Given the description of an element on the screen output the (x, y) to click on. 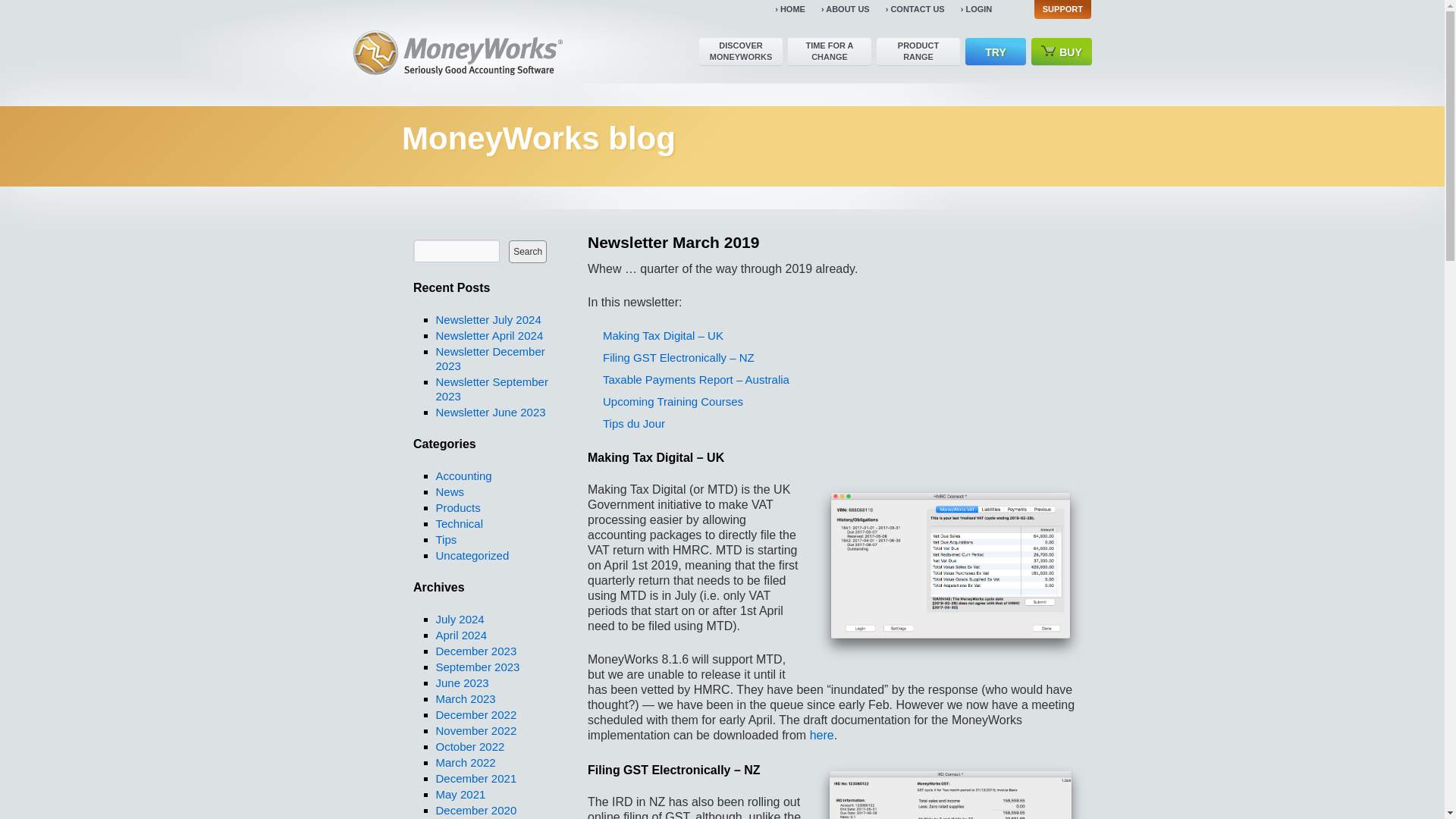
Newsletter September 2023 (491, 388)
November 2022 (475, 730)
Newsletter July 2024 (487, 318)
March 2022 (465, 762)
September 2023 (477, 666)
Newsletter April 2024 (489, 335)
Newsletter June 2023 (489, 411)
December 2022 (475, 714)
Technical (459, 522)
Accounting (463, 475)
